Given the description of an element on the screen output the (x, y) to click on. 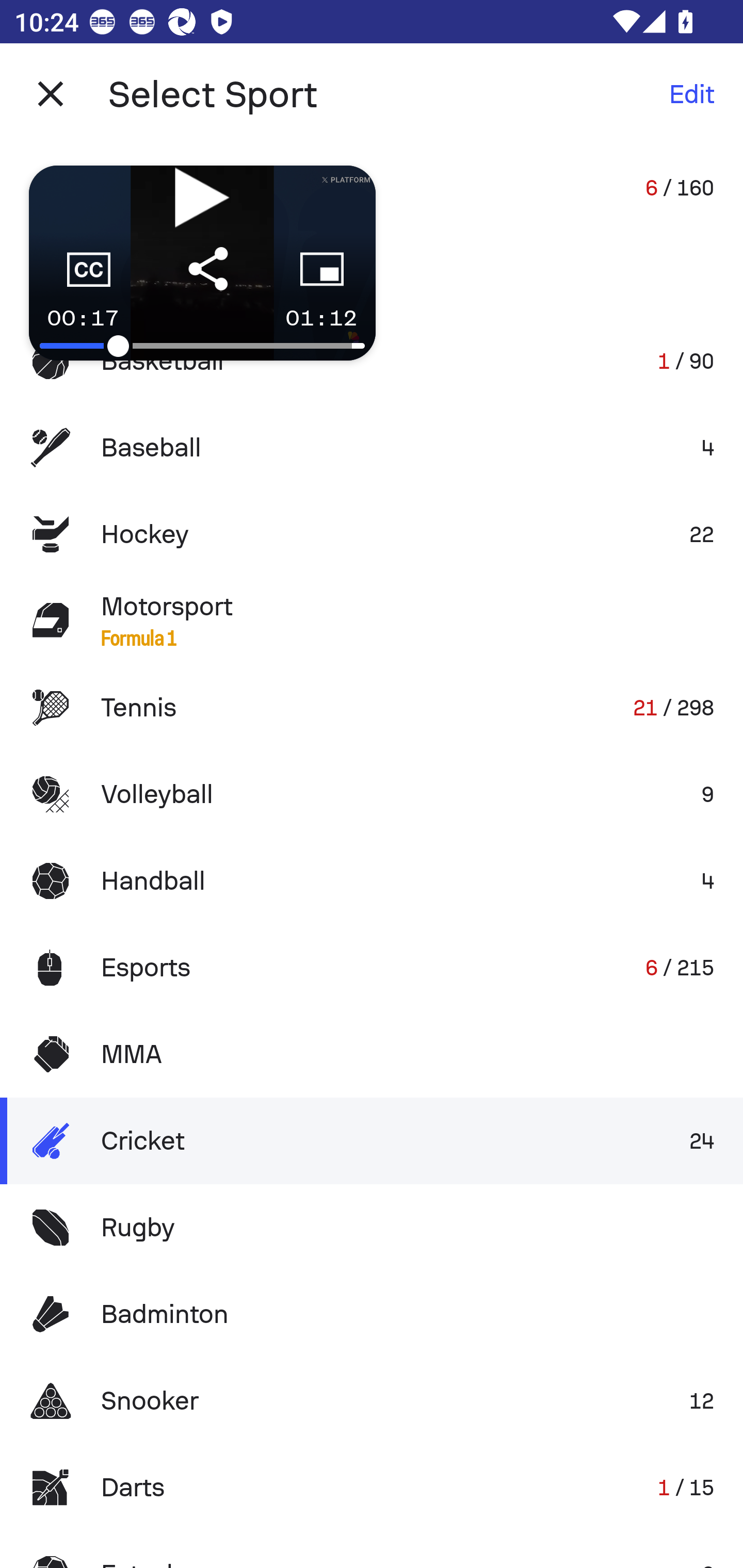
Edit (691, 93)
Baseball 4 (371, 447)
Hockey 22 (371, 533)
Motorsport Formula 1 (371, 620)
Tennis 21 / 298 (371, 707)
Volleyball 9 (371, 794)
Handball 4 (371, 880)
Esports 6 / 215 (371, 967)
MMA (371, 1054)
Cricket 24 (371, 1140)
Rugby (371, 1227)
Badminton (371, 1314)
Snooker 12 (371, 1400)
Darts 1 / 15 (371, 1487)
